Given the description of an element on the screen output the (x, y) to click on. 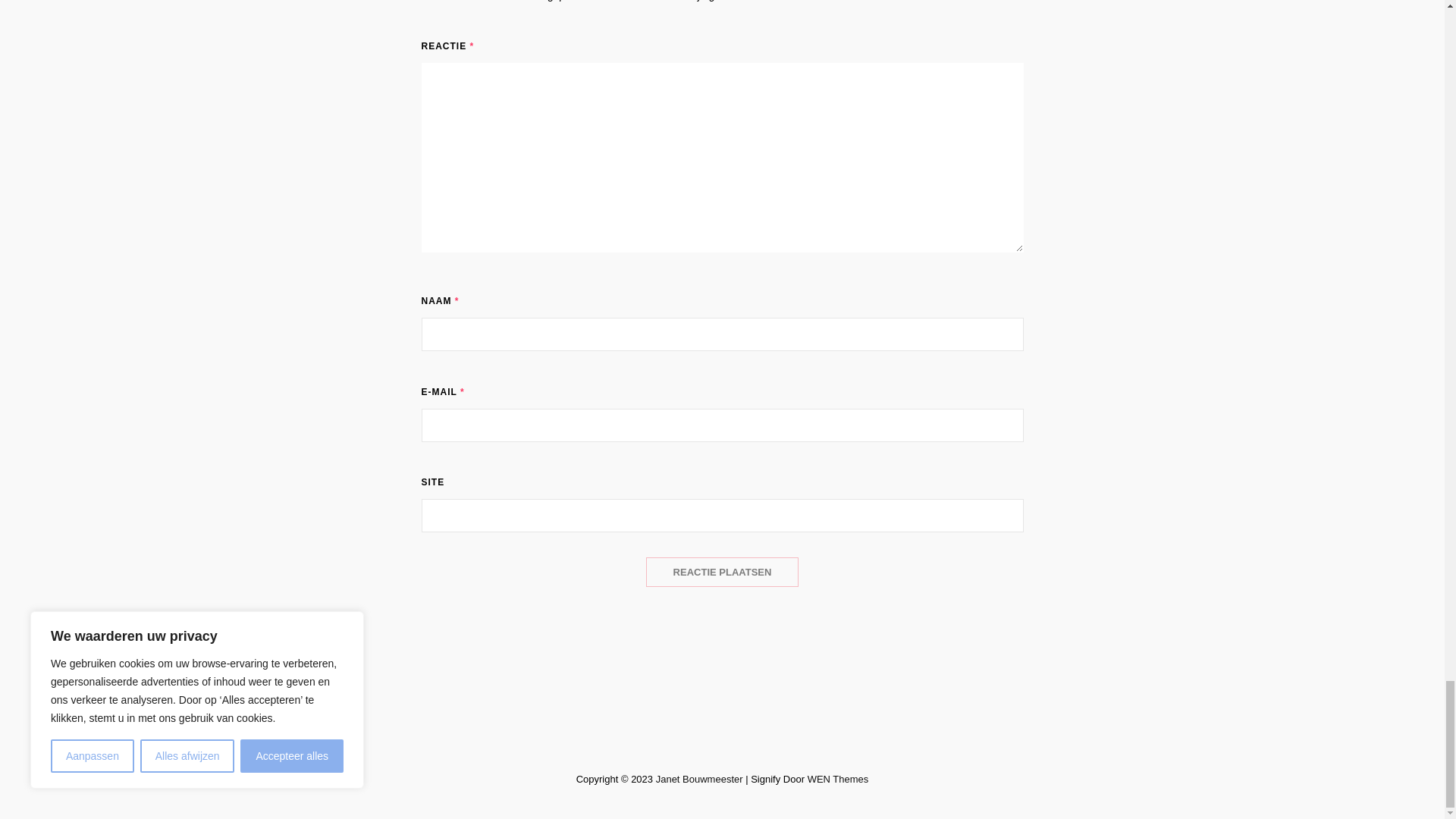
Reactie plaatsen (722, 572)
